Given the description of an element on the screen output the (x, y) to click on. 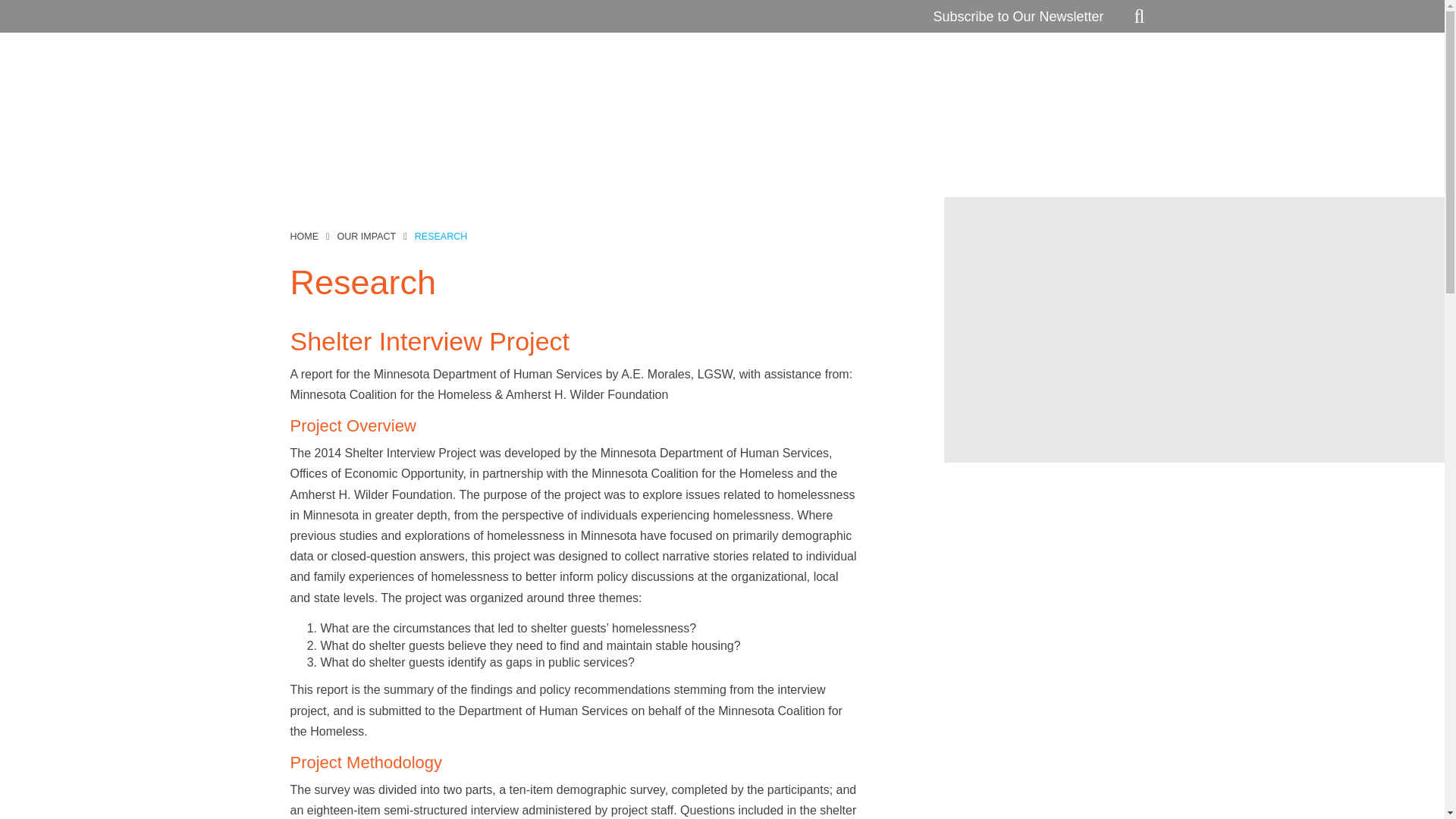
Get Involved (888, 76)
Get Involved (888, 76)
Subscribe to Our Newsletter (1018, 16)
About us (747, 76)
MCH in the News (997, 76)
Donate now! (1106, 76)
About us (747, 76)
HOME (303, 235)
MCH in the News (997, 76)
OUR IMPACT (366, 235)
